Given the description of an element on the screen output the (x, y) to click on. 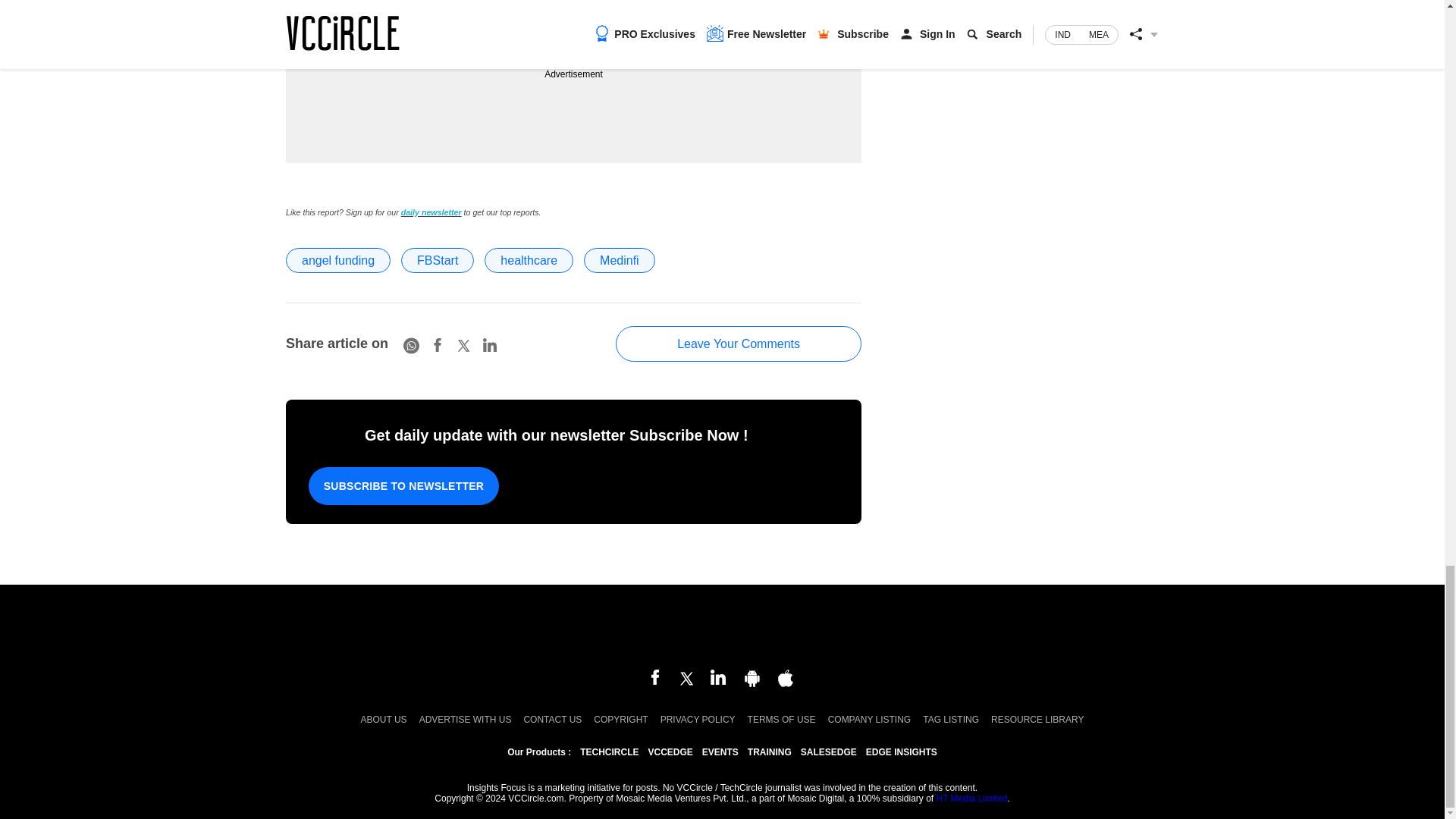
Mosaic Digital (721, 628)
healthcare (528, 260)
Medinfi (619, 260)
SUBSCRIBE TO NEWSLETTER (403, 485)
Leave Your Comments (738, 343)
daily newsletter (431, 212)
angel funding (337, 260)
FBStart (437, 260)
